Given the description of an element on the screen output the (x, y) to click on. 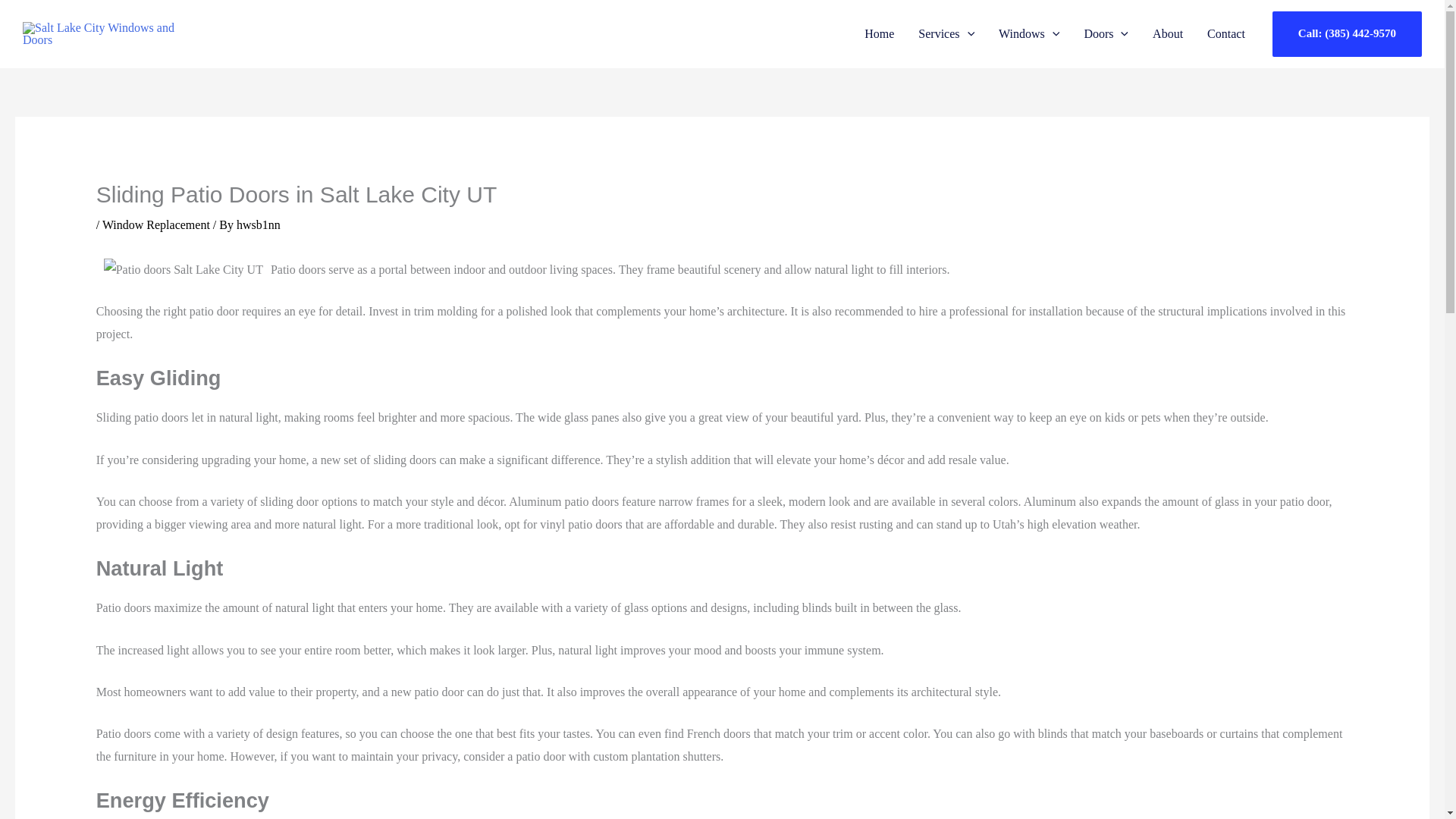
Contact (1226, 33)
About (1167, 33)
Doors (1105, 33)
Home (878, 33)
Windows (1029, 33)
Services (946, 33)
View all posts by hwsb1nn (258, 224)
